Given the description of an element on the screen output the (x, y) to click on. 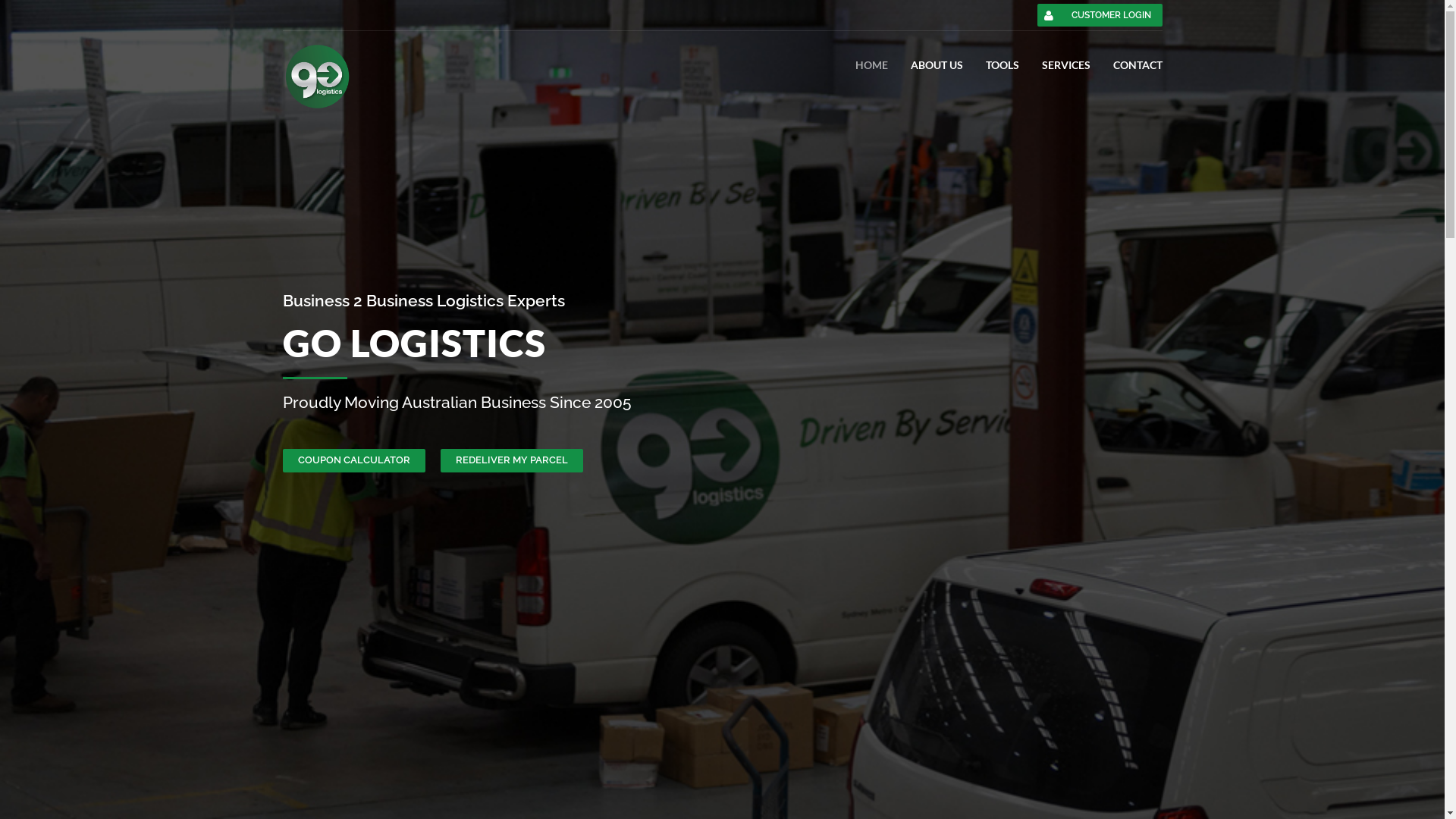
CONTACT Element type: text (1137, 64)
HOME Element type: text (871, 64)
ABOUT US Element type: text (936, 64)
TOOLS Element type: text (1002, 64)
COUPON CALCULATOR Element type: text (353, 460)
SERVICES Element type: text (1065, 64)
REDELIVER MY PARCEL Element type: text (510, 460)
